Given the description of an element on the screen output the (x, y) to click on. 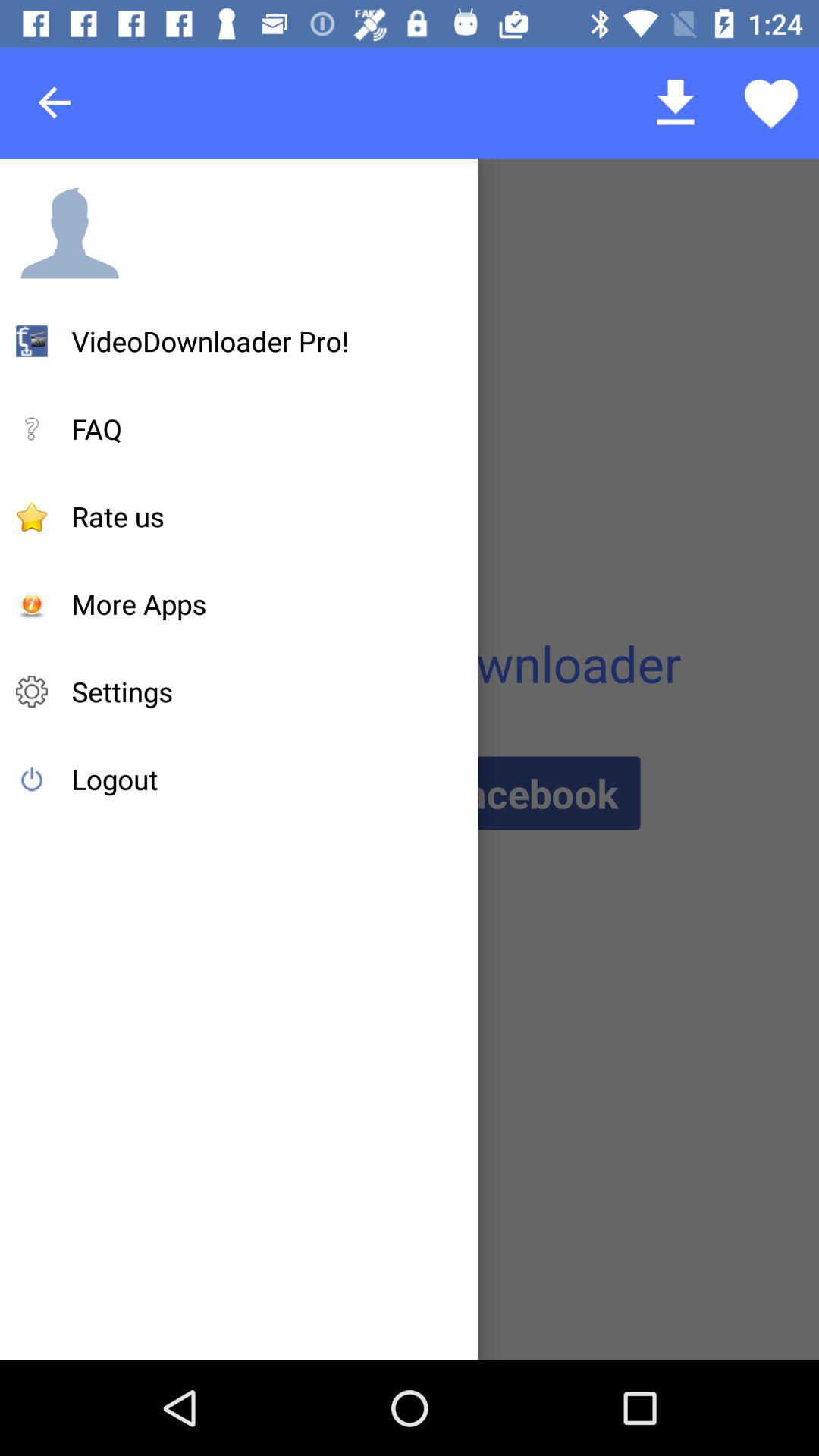
launch videodownloader pro! (210, 340)
